Given the description of an element on the screen output the (x, y) to click on. 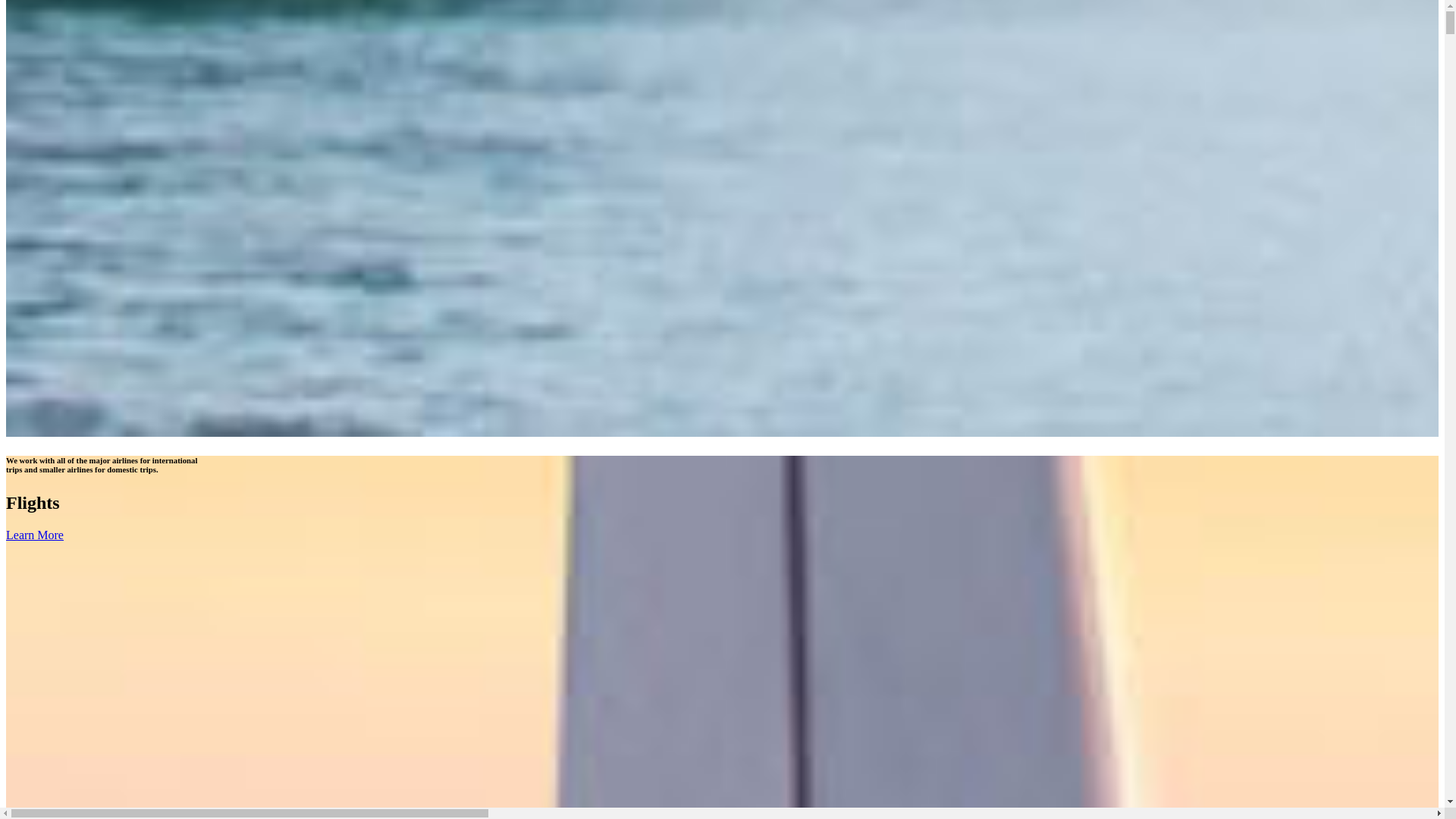
Get a Free Quote Element type: text (47, 139)
Packages Element type: text (89, 219)
Specials Element type: text (56, 178)
Travel and Tours Company in Melbourne Element type: hover (78, 71)
Home Element type: text (50, 165)
Blog Element type: text (47, 301)
Your Questions Element type: text (103, 288)
Flights Element type: text (83, 192)
Tours Element type: text (80, 233)
Tours & Transfers Element type: text (80, 247)
Learn More Element type: text (34, 515)
Cruises Element type: text (84, 206)
Treatment and Pricing Element type: text (120, 274)
+61 478 076 090 Element type: text (77, 113)
Health Tourism Element type: text (73, 260)
Contact Us Element type: text (63, 315)
